Given the description of an element on the screen output the (x, y) to click on. 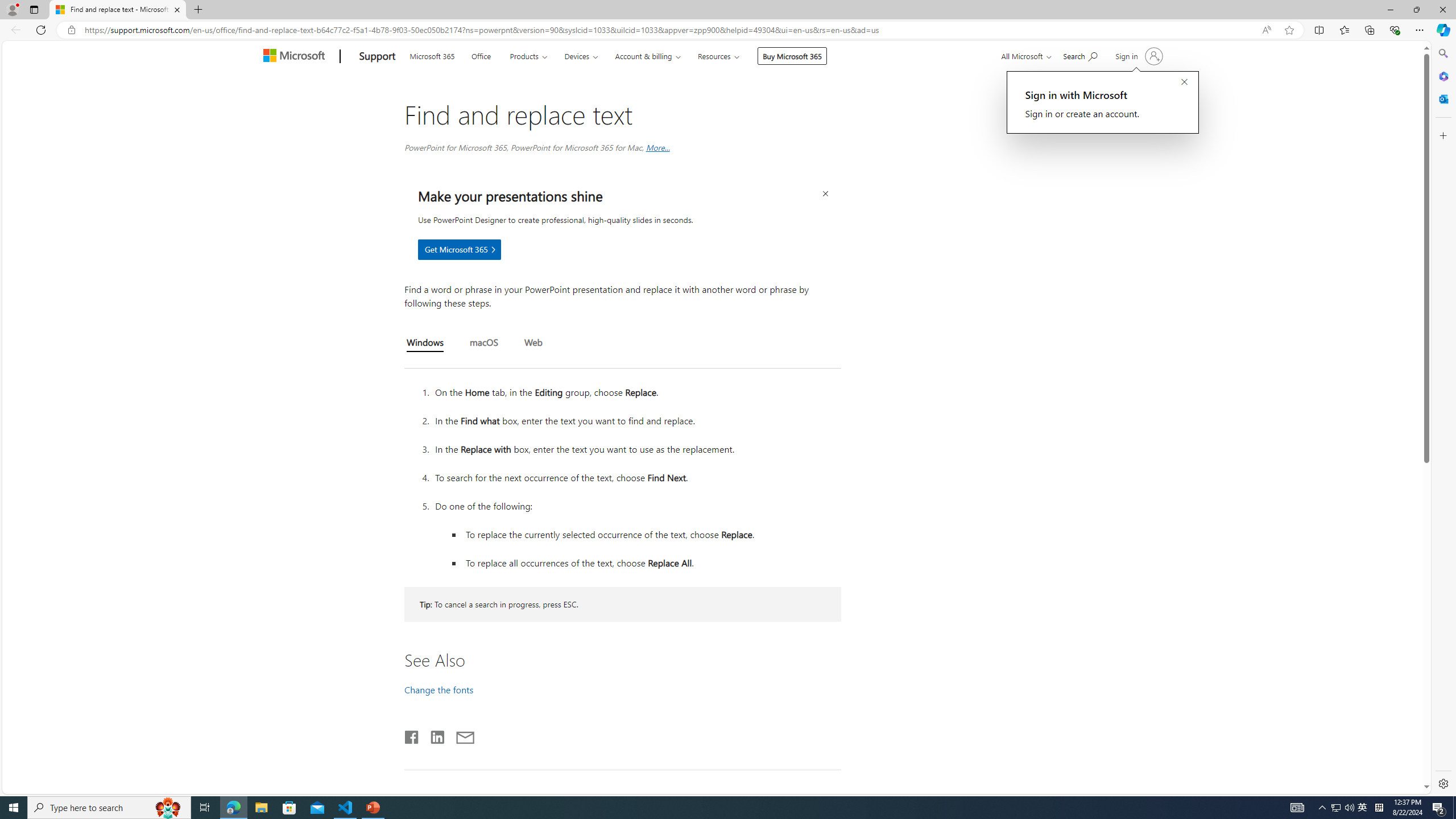
Microsoft (295, 56)
Read aloud this page (Ctrl+Shift+U) (1266, 29)
Add this page to favorites (Ctrl+D) (1289, 29)
Windows (425, 343)
macOS (483, 342)
Web (533, 342)
Search for help (1080, 54)
Office (480, 54)
Outlook (1442, 98)
Tab actions menu (33, 9)
